Given the description of an element on the screen output the (x, y) to click on. 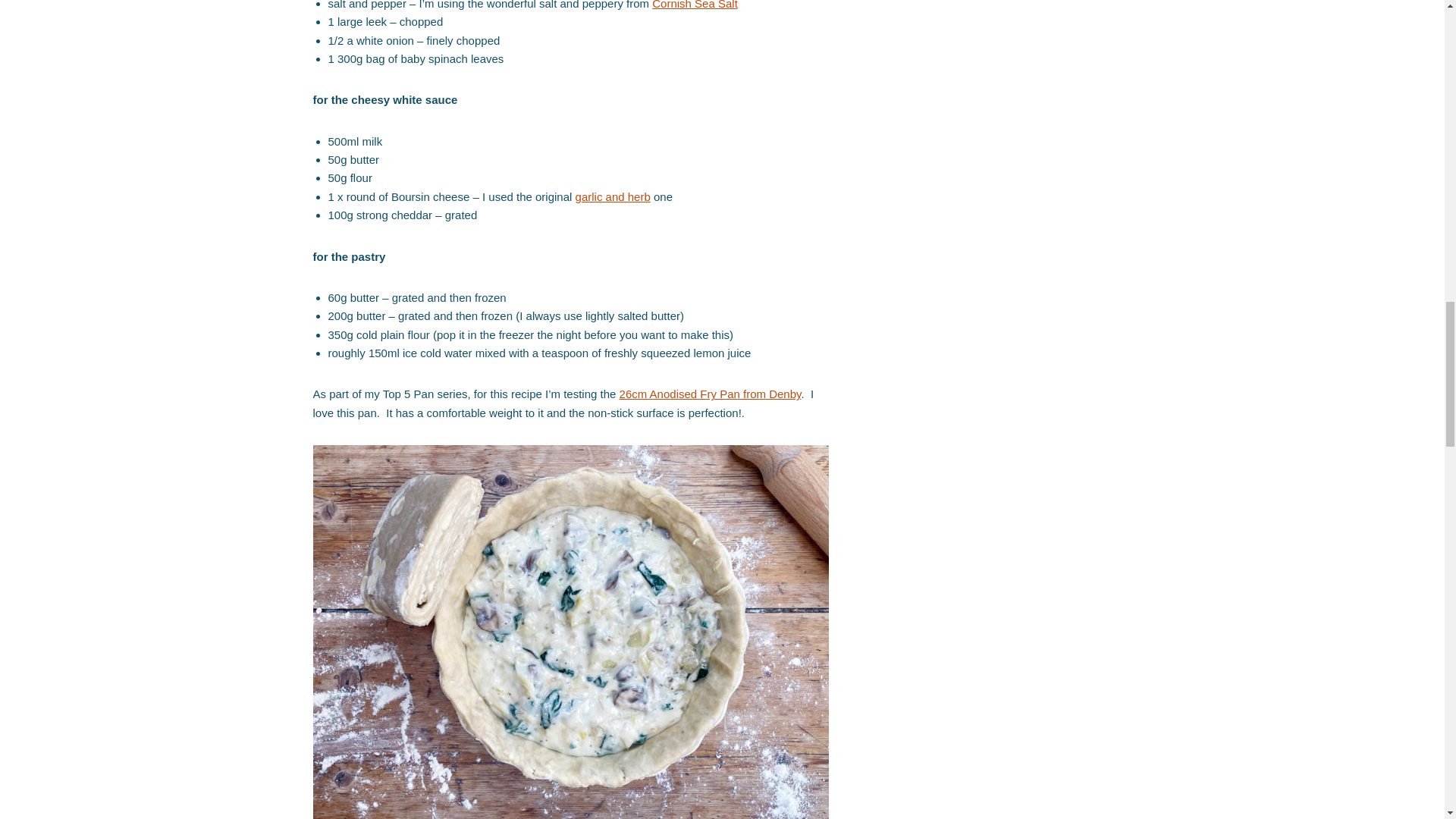
garlic and herb (612, 196)
Cornish Sea Salt (695, 4)
26cm Anodised Fry Pan from Denby (711, 393)
